Given the description of an element on the screen output the (x, y) to click on. 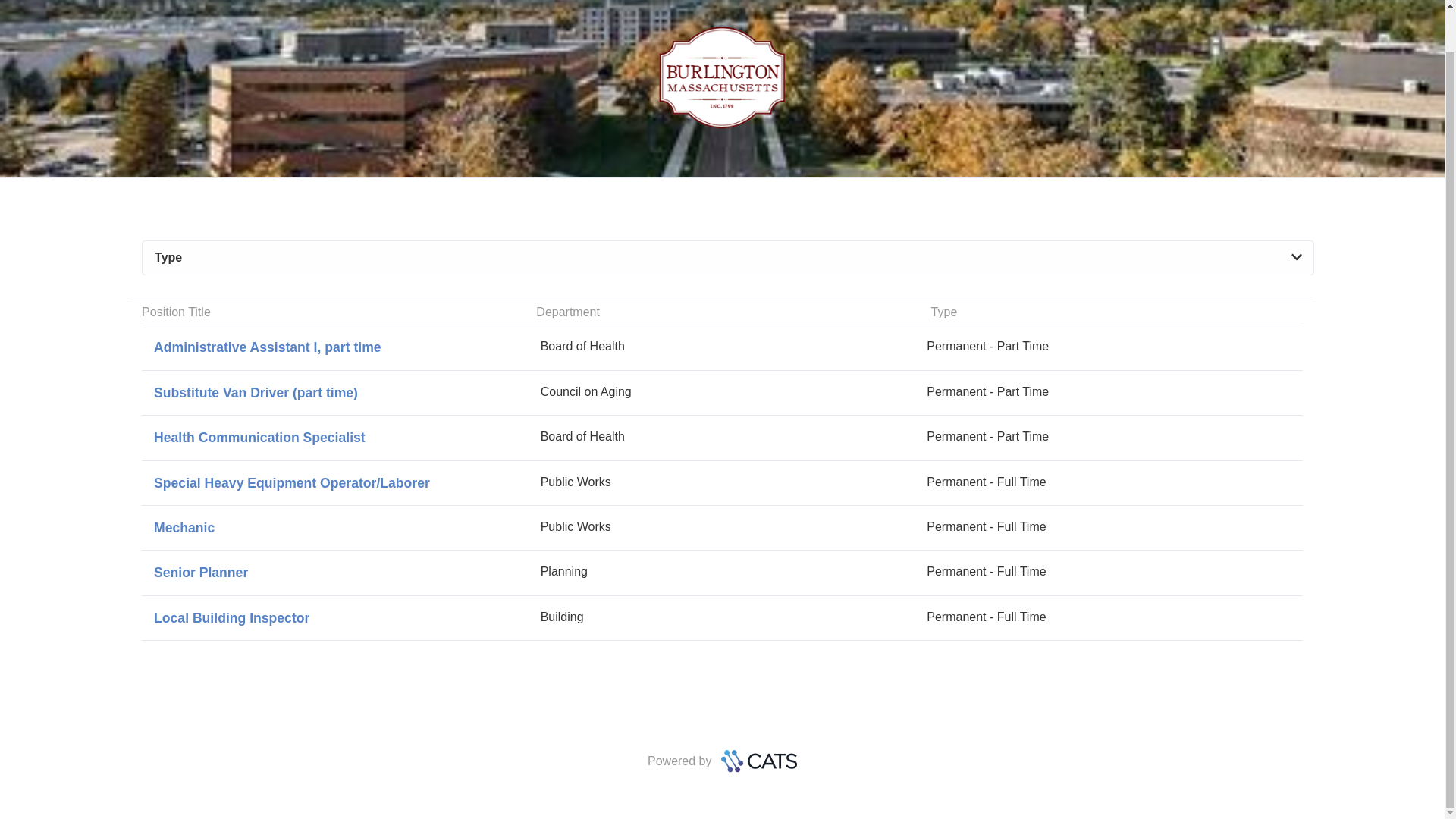
Type (727, 258)
